Given the description of an element on the screen output the (x, y) to click on. 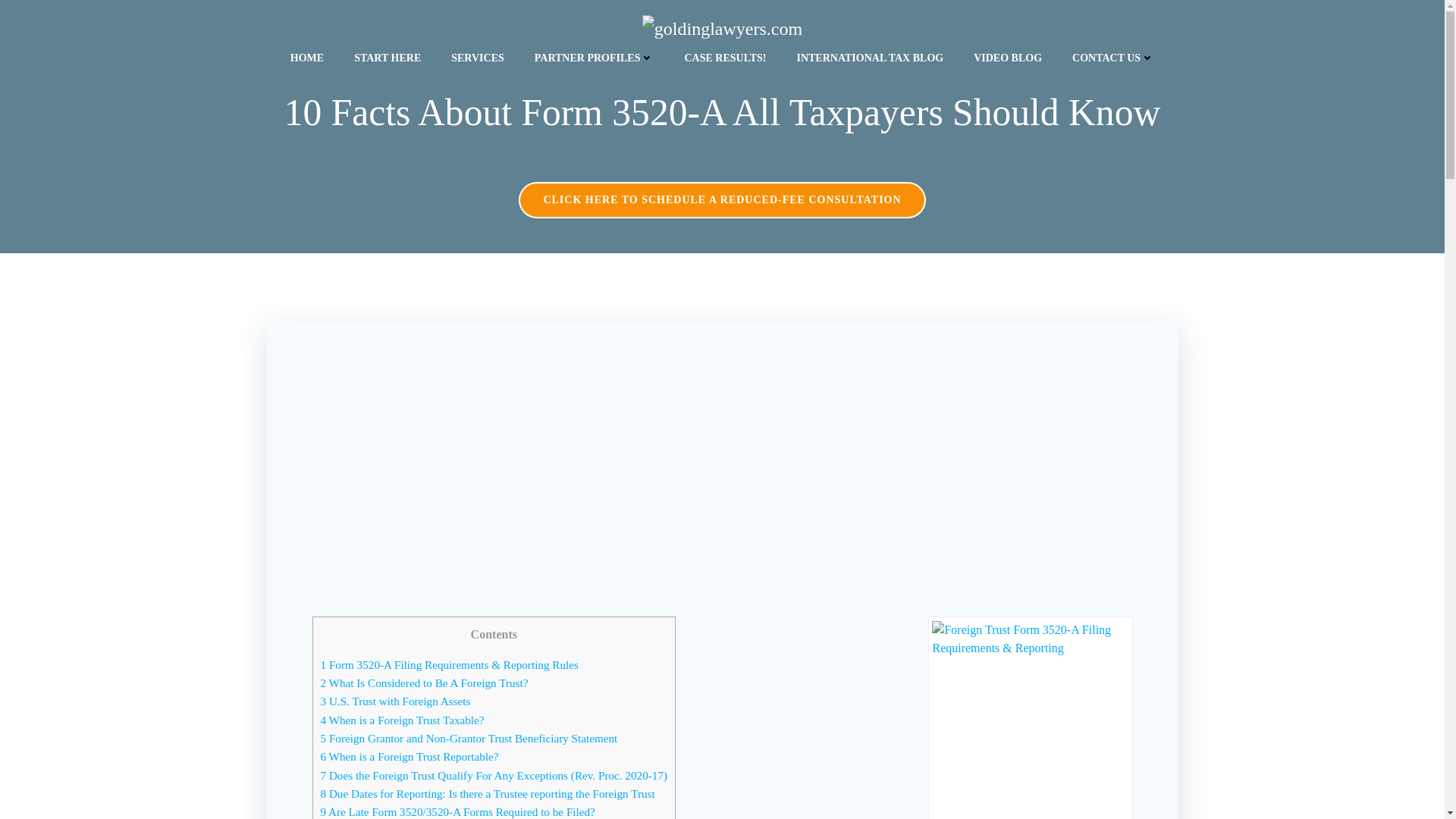
START HERE (386, 57)
INTERNATIONAL TAX BLOG (869, 57)
4 When is a Foreign Trust Taxable? (401, 719)
6 When is a Foreign Trust Reportable? (408, 756)
3 U.S. Trust with Foreign Assets (395, 700)
Understanding IRS Foreign Income and Reporting Rules (386, 57)
CASE RESULTS! (724, 57)
CONTACT US (1112, 57)
IRS Offshore Voluntary Disclosure (477, 57)
HOME (306, 57)
VIDEO BLOG (1008, 57)
PARTNER PROFILES (593, 57)
